Given the description of an element on the screen output the (x, y) to click on. 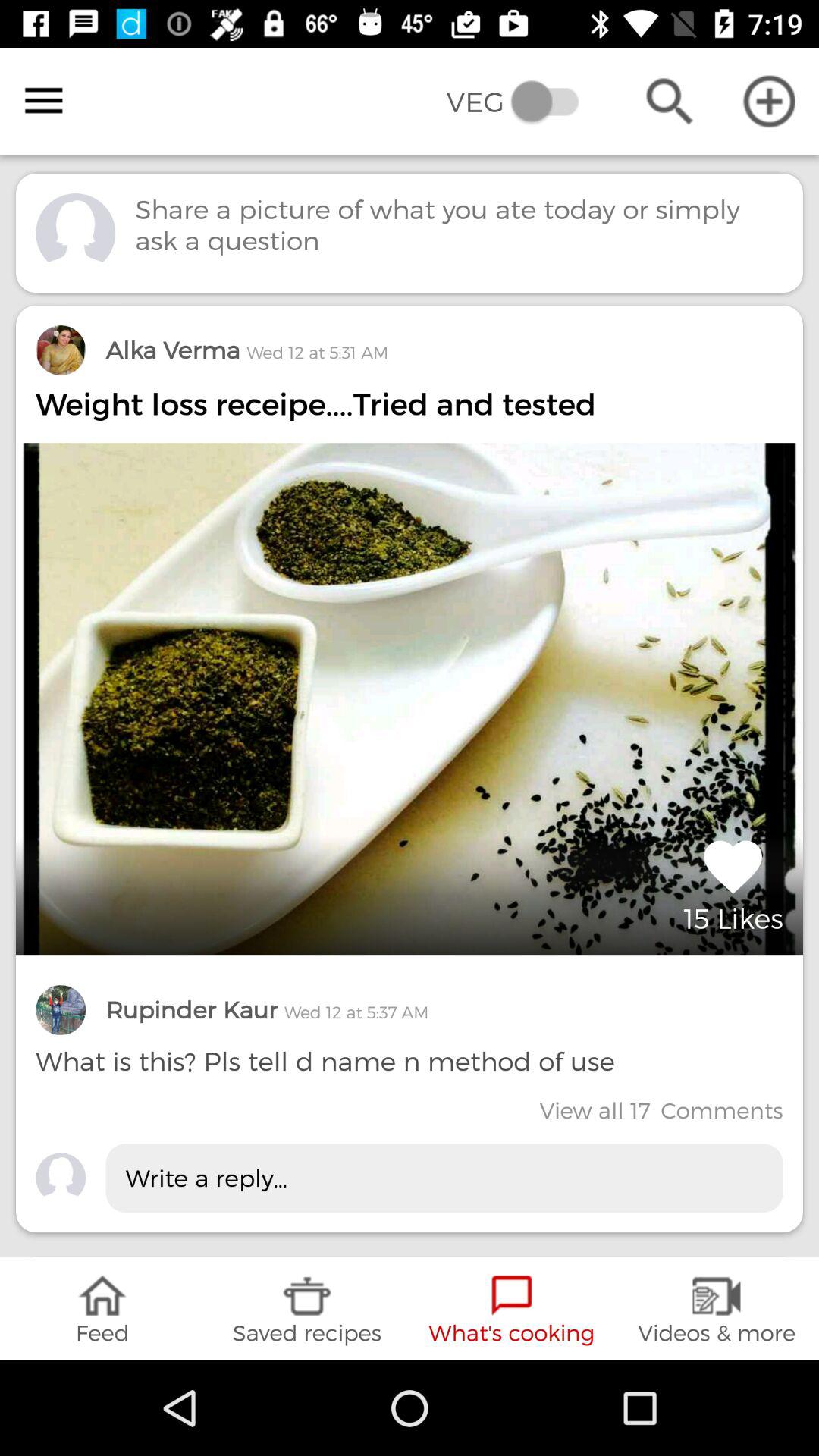
select the text which is immediately below view all 17 comments (444, 1177)
select the first item from the top (409, 769)
go to  in top right corner (769, 100)
